Given the description of an element on the screen output the (x, y) to click on. 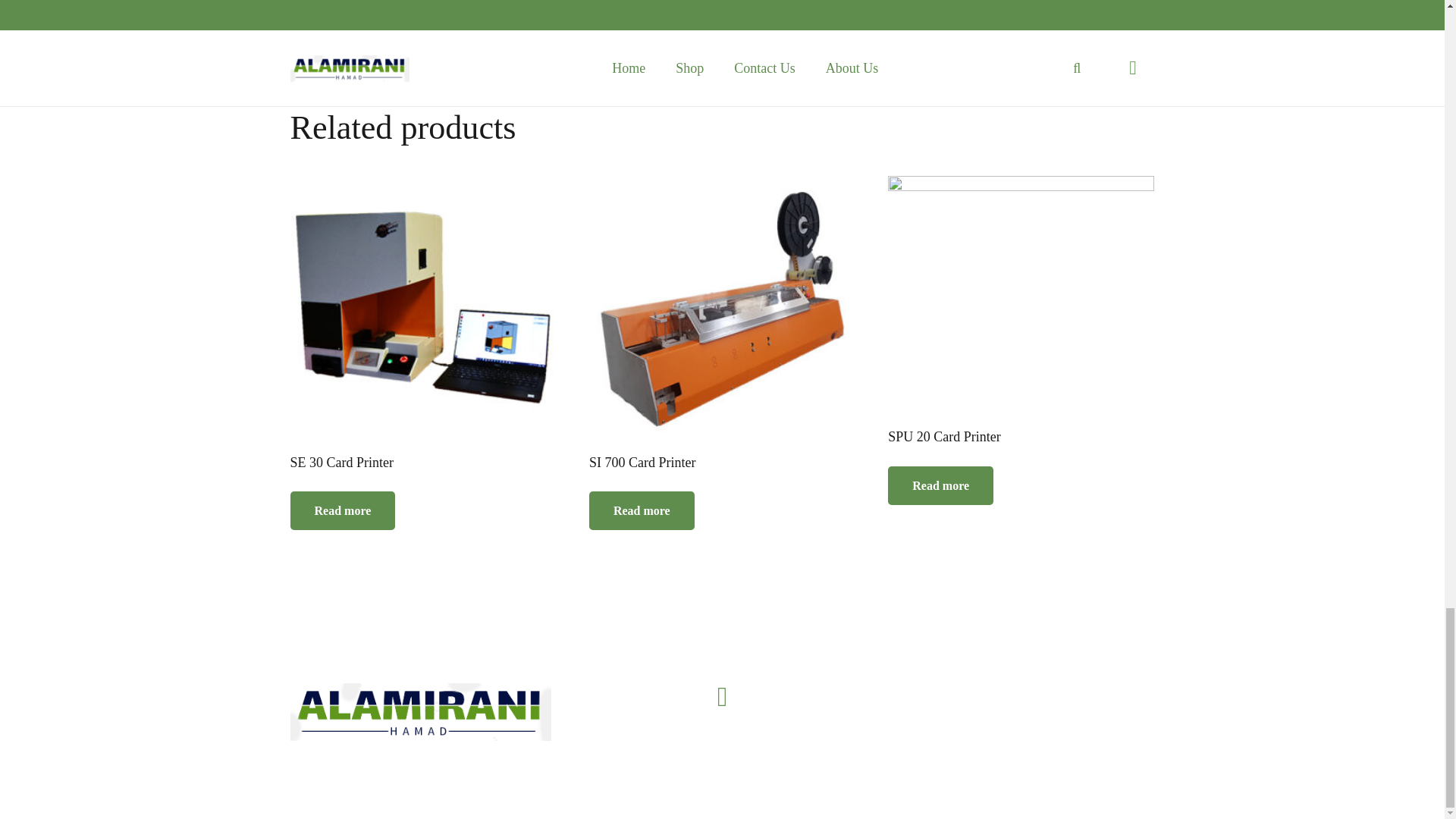
Read more (341, 510)
Read more (641, 510)
Submit (360, 4)
Submit (360, 4)
Read more (940, 485)
SPU 20 Card Printer (1021, 311)
SE 30 Card Printer (422, 324)
SI 700 Card Printer (722, 324)
